Given the description of an element on the screen output the (x, y) to click on. 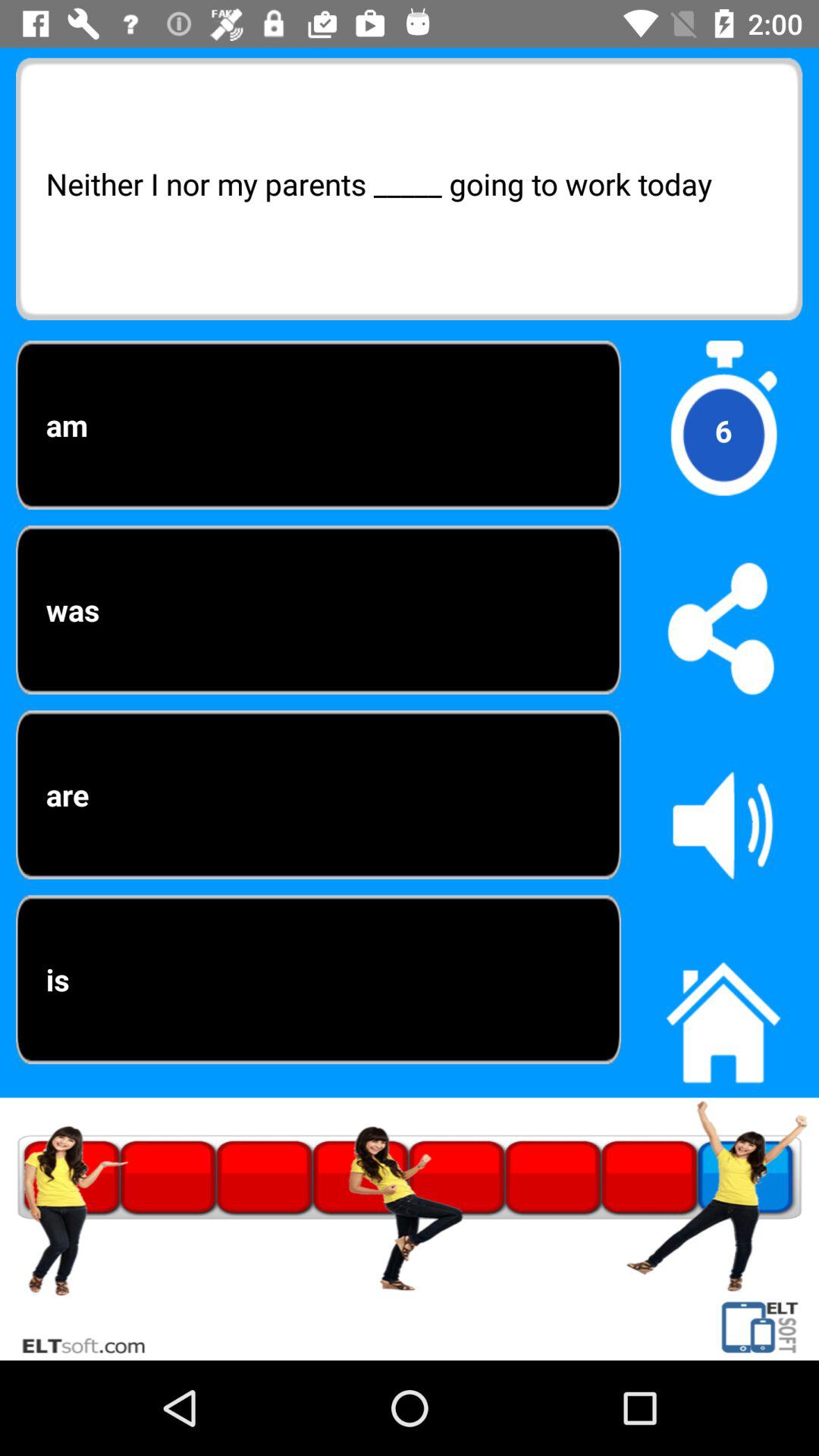
choose the icon next to the 6 (318, 609)
